Given the description of an element on the screen output the (x, y) to click on. 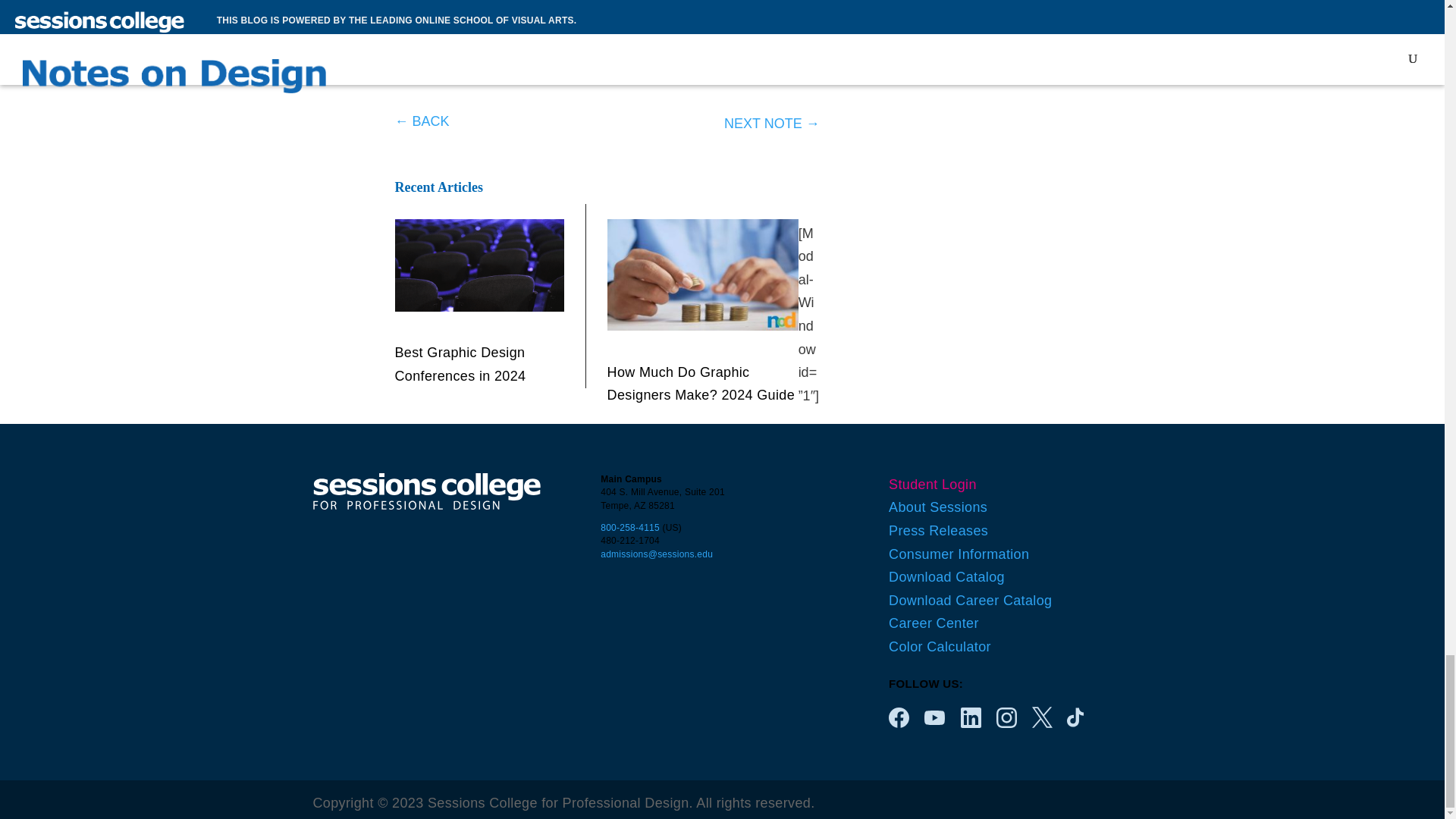
facebook (898, 717)
Customer reviews powered by Trustpilot (606, 77)
